Given the description of an element on the screen output the (x, y) to click on. 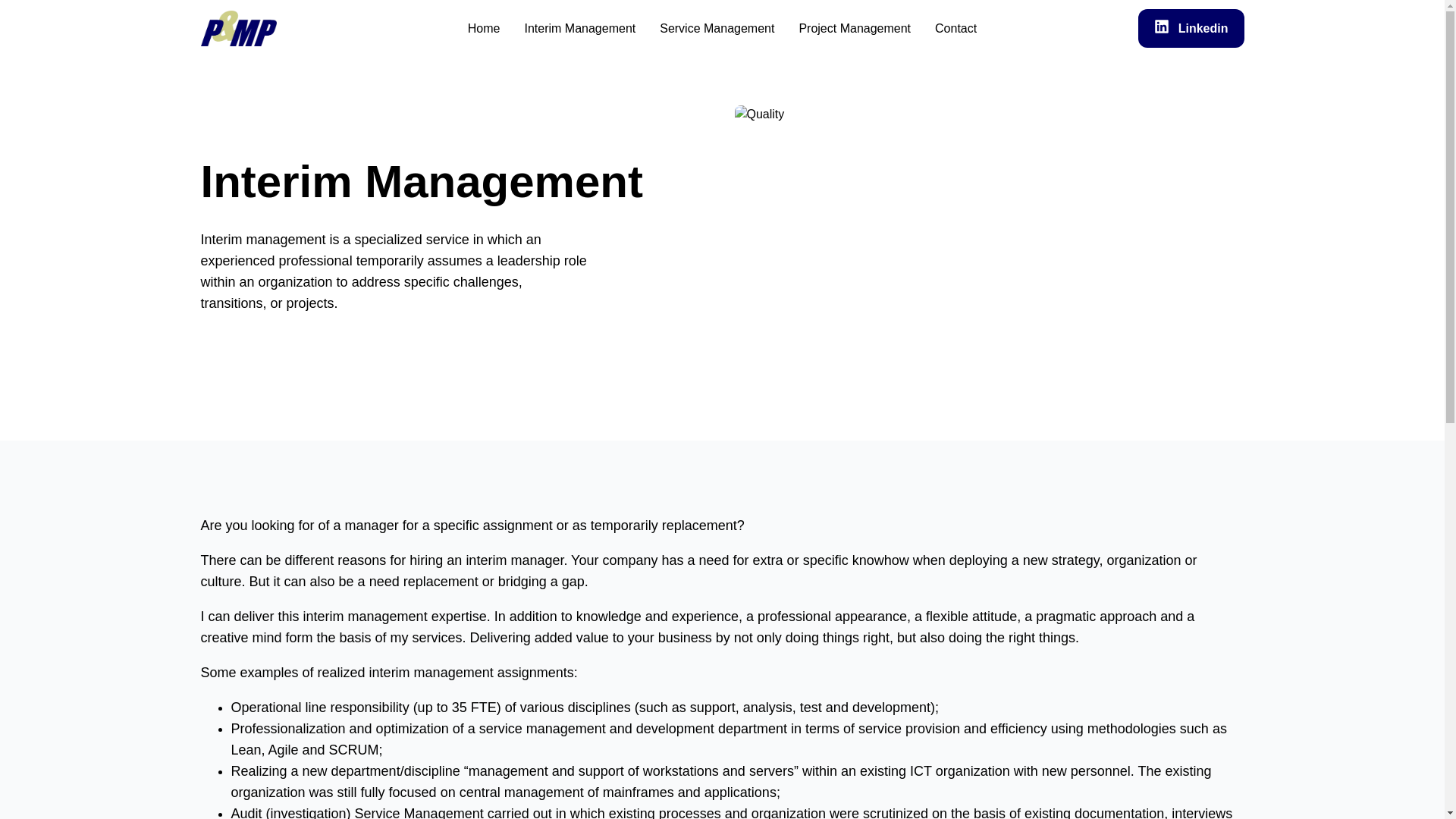
Linkedin (1191, 28)
Project Management (854, 28)
Service Management (716, 28)
Interim Management (579, 28)
Home (483, 28)
Contact (955, 28)
